Given the description of an element on the screen output the (x, y) to click on. 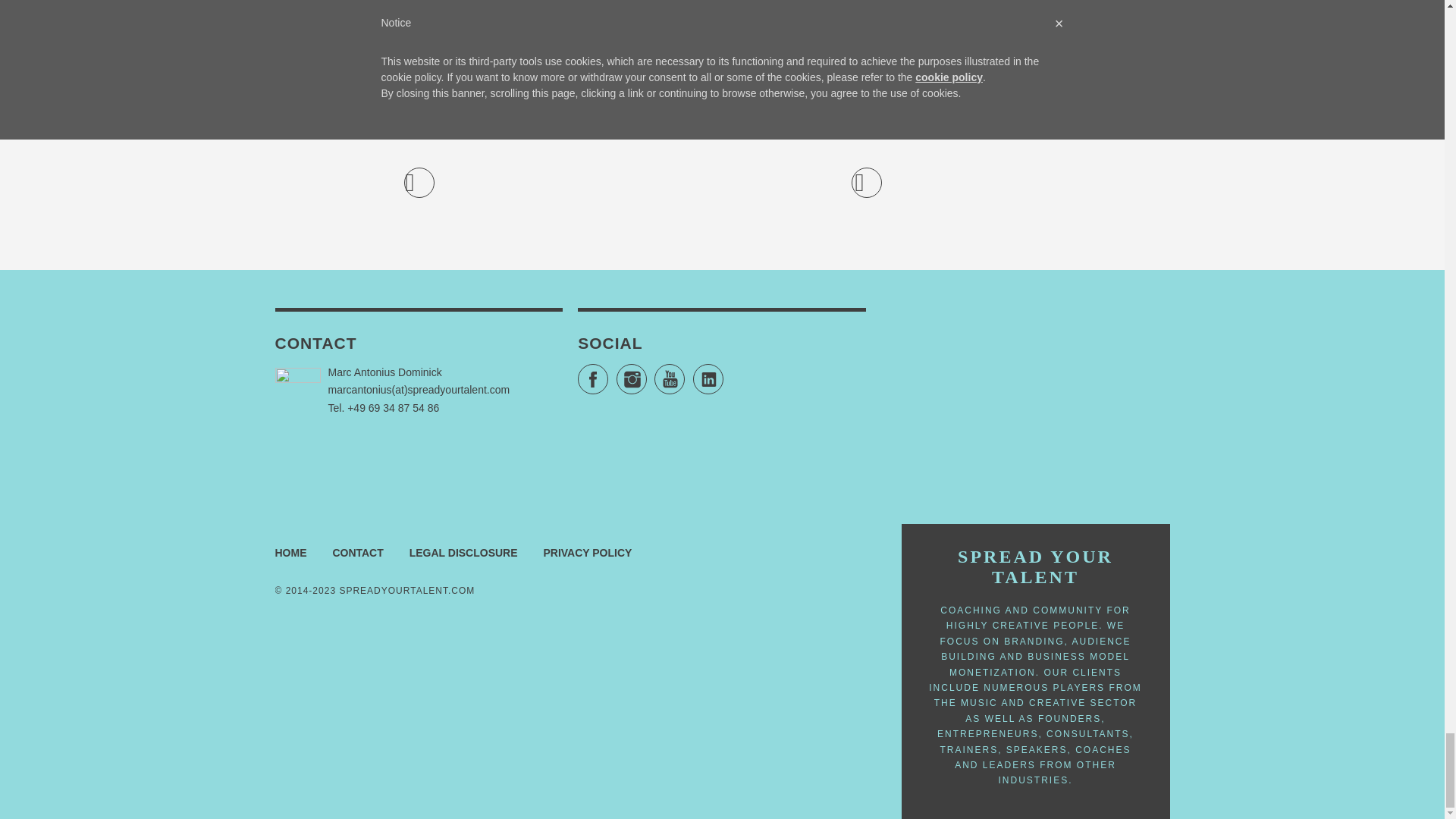
YouTube (668, 378)
Instagram (630, 378)
Facebook (593, 378)
LinkedIn (708, 378)
logged in (498, 122)
